Given the description of an element on the screen output the (x, y) to click on. 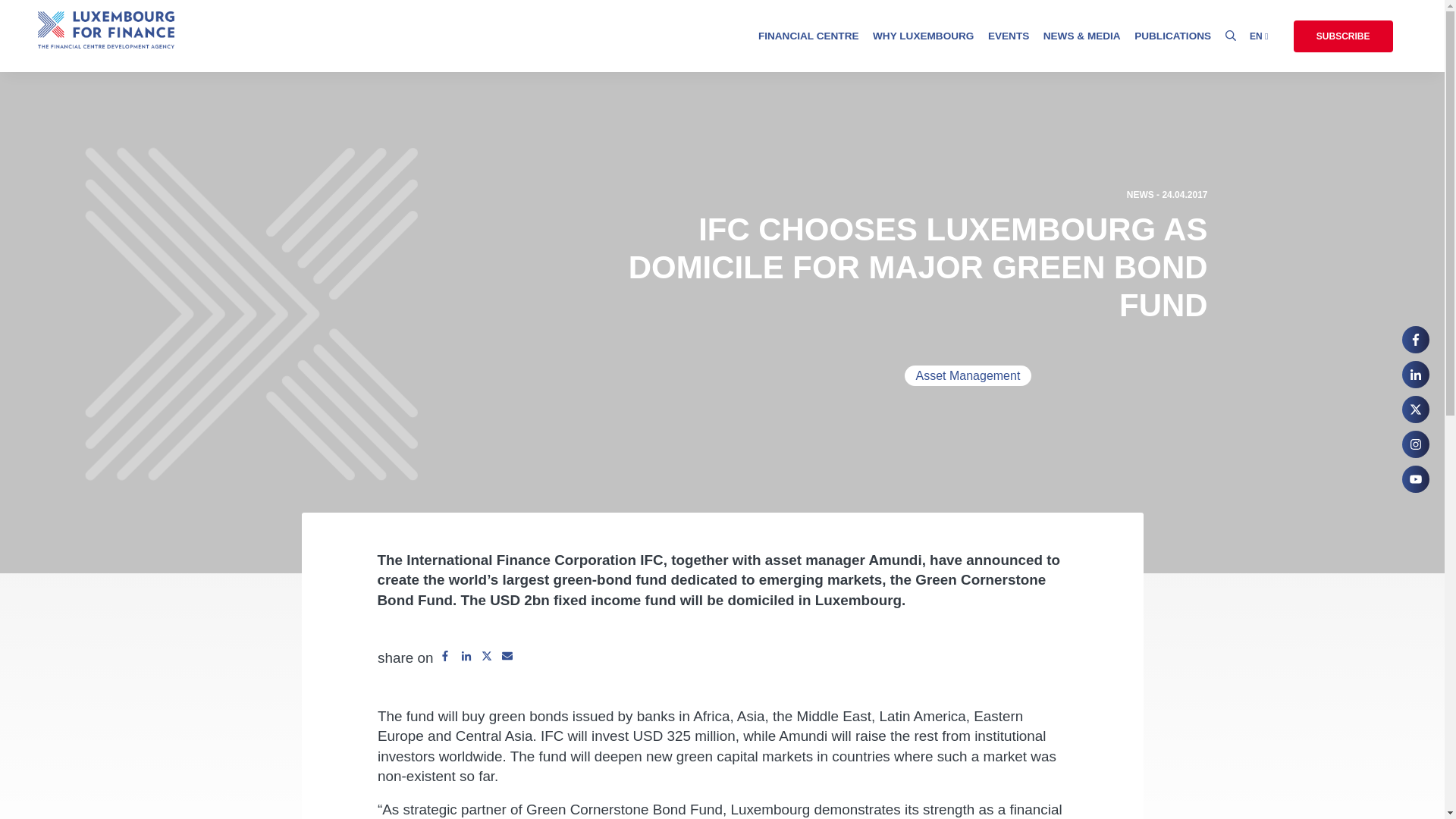
EVENTS (1008, 37)
PUBLICATIONS (1172, 37)
WHY LUXEMBOURG (923, 37)
FINANCIAL CENTRE (808, 37)
